Given the description of an element on the screen output the (x, y) to click on. 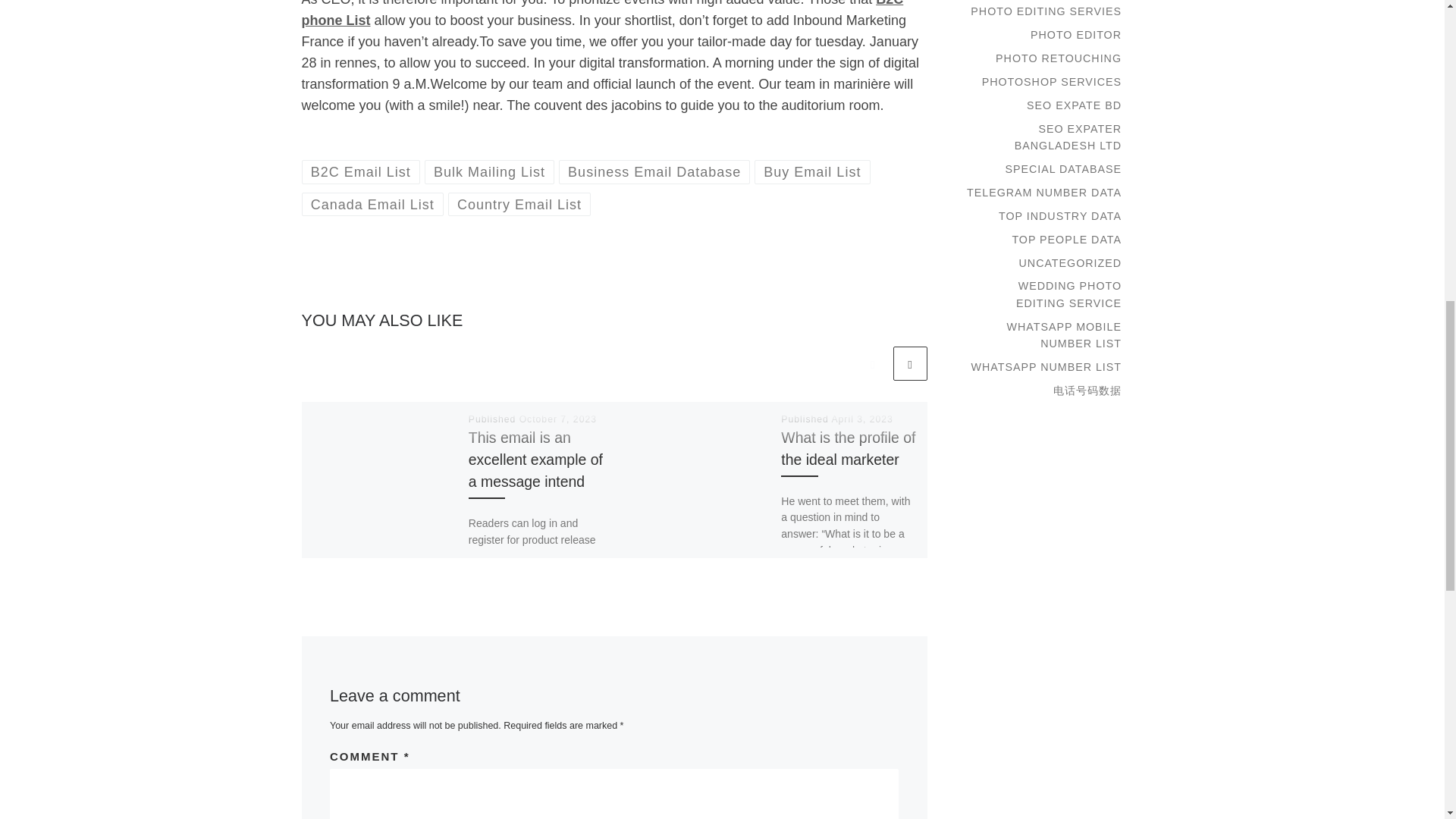
Canada Email List (372, 204)
Buy Email List (812, 171)
View all posts in B2C Email List (360, 171)
View all posts in Buy Email List (812, 171)
What is the profile of the ideal marketer (847, 448)
Bulk Mailing List (489, 171)
Next related articles (910, 363)
B2C Email List (360, 171)
View all posts in Business Email Database (655, 171)
Business Email Database (655, 171)
This email is an excellent example of a message intend (535, 459)
View all posts in Canada Email List (372, 204)
View all posts in Country Email List (519, 204)
Previous related articles (872, 363)
October 7, 2023 (557, 419)
